Given the description of an element on the screen output the (x, y) to click on. 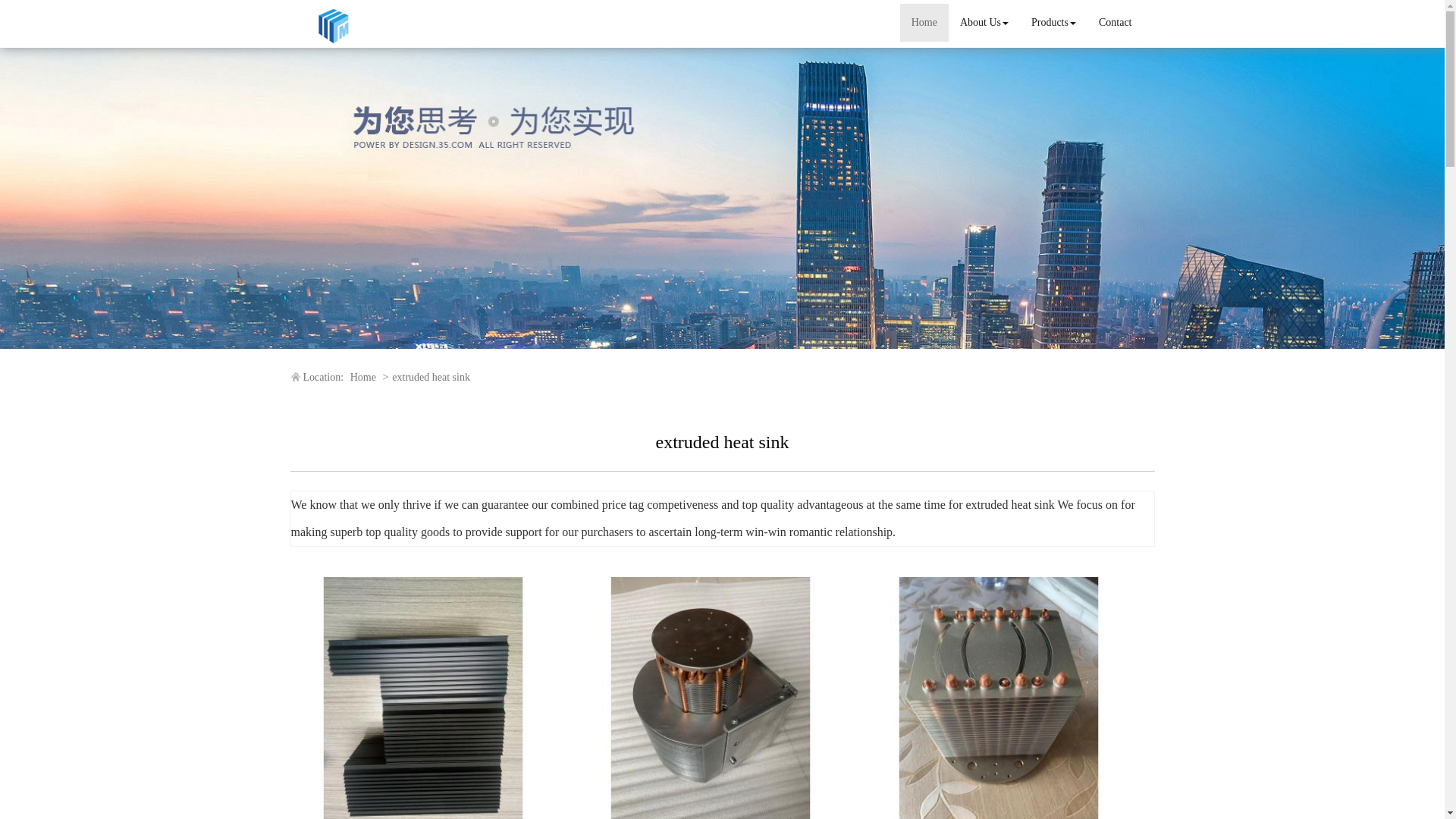
About Us (984, 22)
Home (362, 377)
Contact (1114, 22)
Products (1053, 22)
Home (924, 22)
